Given the description of an element on the screen output the (x, y) to click on. 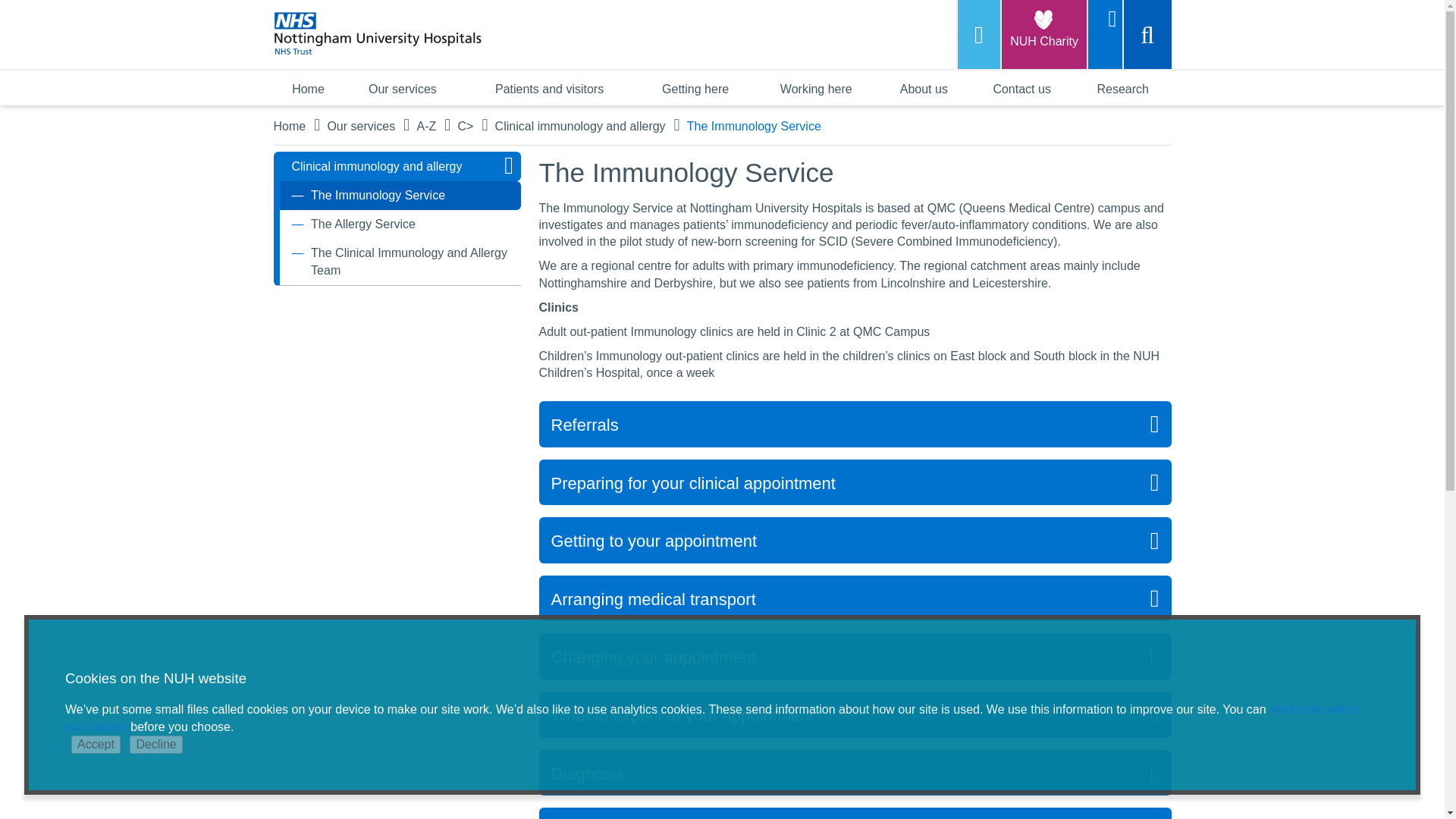
NUH Charity (1043, 34)
Patients and visitors (549, 87)
Decline (155, 744)
Our services (401, 87)
Accept (95, 744)
Home (307, 87)
